Given the description of an element on the screen output the (x, y) to click on. 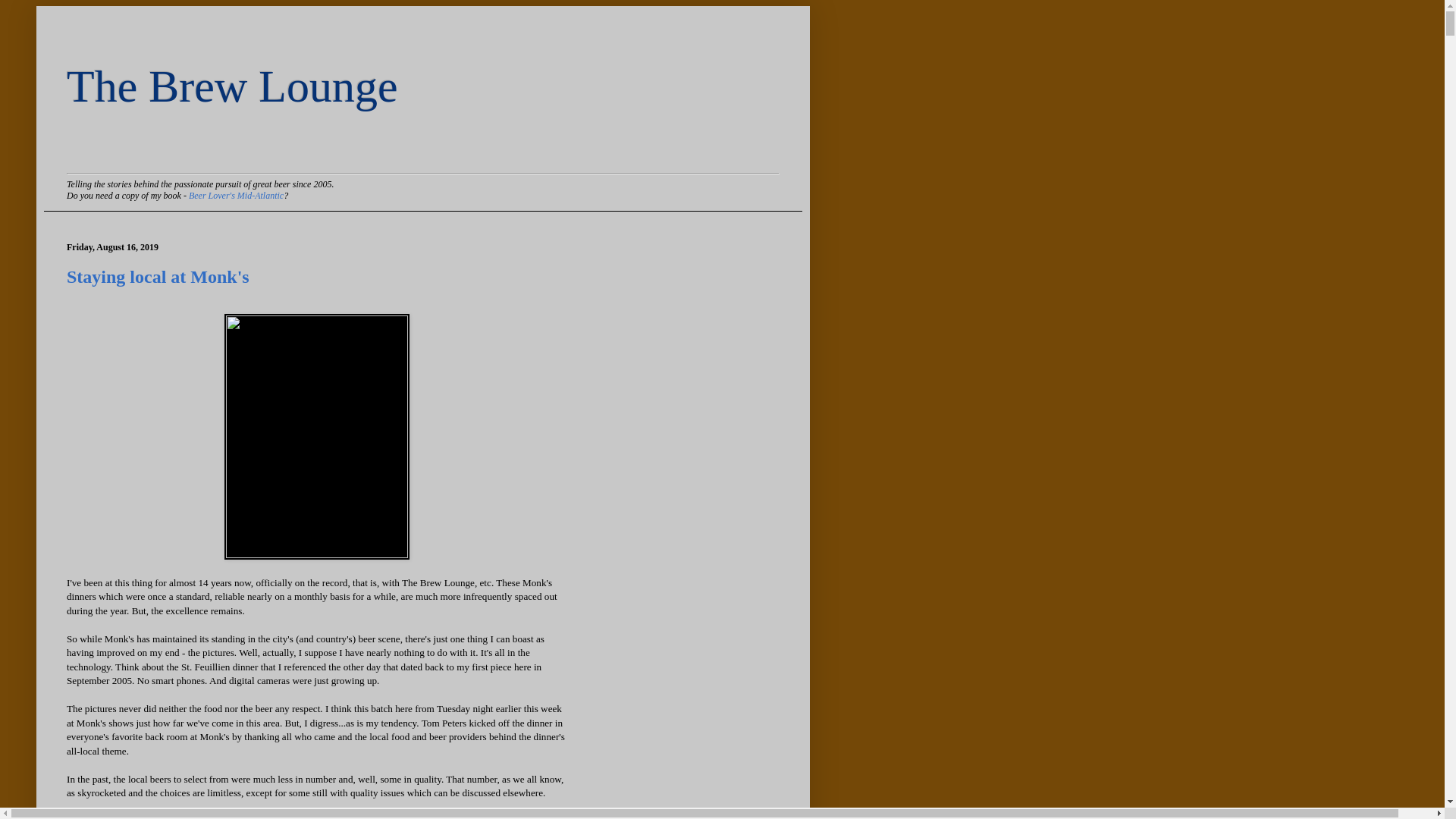
The Brew Lounge (231, 86)
Beer Lover's Mid-Atlantic (236, 195)
Staying local at Monk's (157, 276)
